Given the description of an element on the screen output the (x, y) to click on. 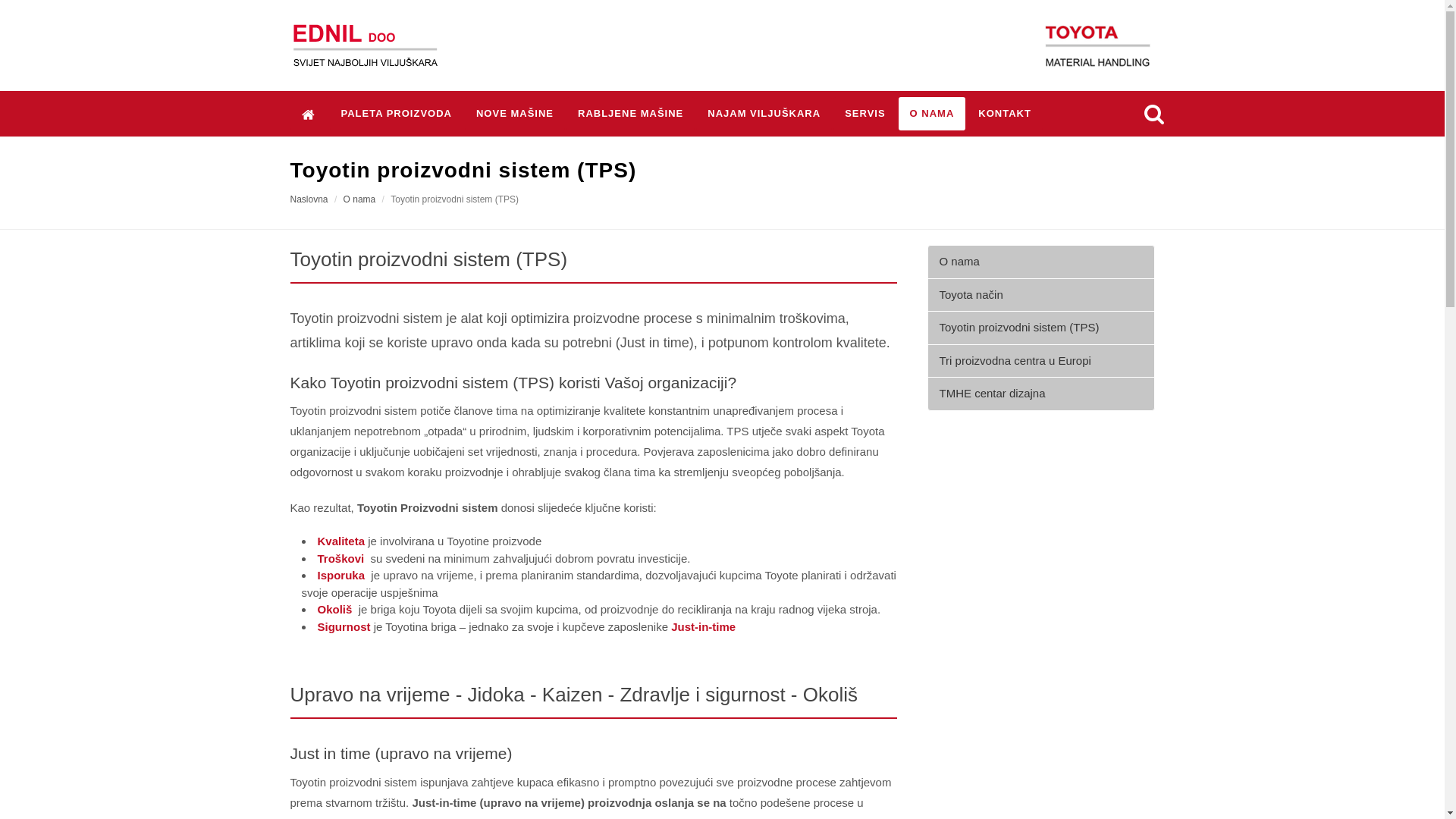
O nama Element type: text (359, 199)
Tri proizvodna centra u Europi Element type: text (1040, 361)
Sigurnost Element type: text (343, 626)
TMHE centar dizajna Element type: text (1040, 393)
Isporuka  Element type: text (341, 574)
SERVIS Element type: text (864, 113)
Naslovna Element type: text (308, 199)
Kvaliteta Element type: text (340, 540)
KONTAKT Element type: text (1004, 113)
Just-in-time Element type: text (703, 626)
Toyotin proizvodni sistem (TPS) Element type: text (1040, 327)
O nama Element type: text (1040, 261)
O NAMA Element type: text (932, 113)
PALETA PROIZVODA Element type: text (395, 113)
